Given the description of an element on the screen output the (x, y) to click on. 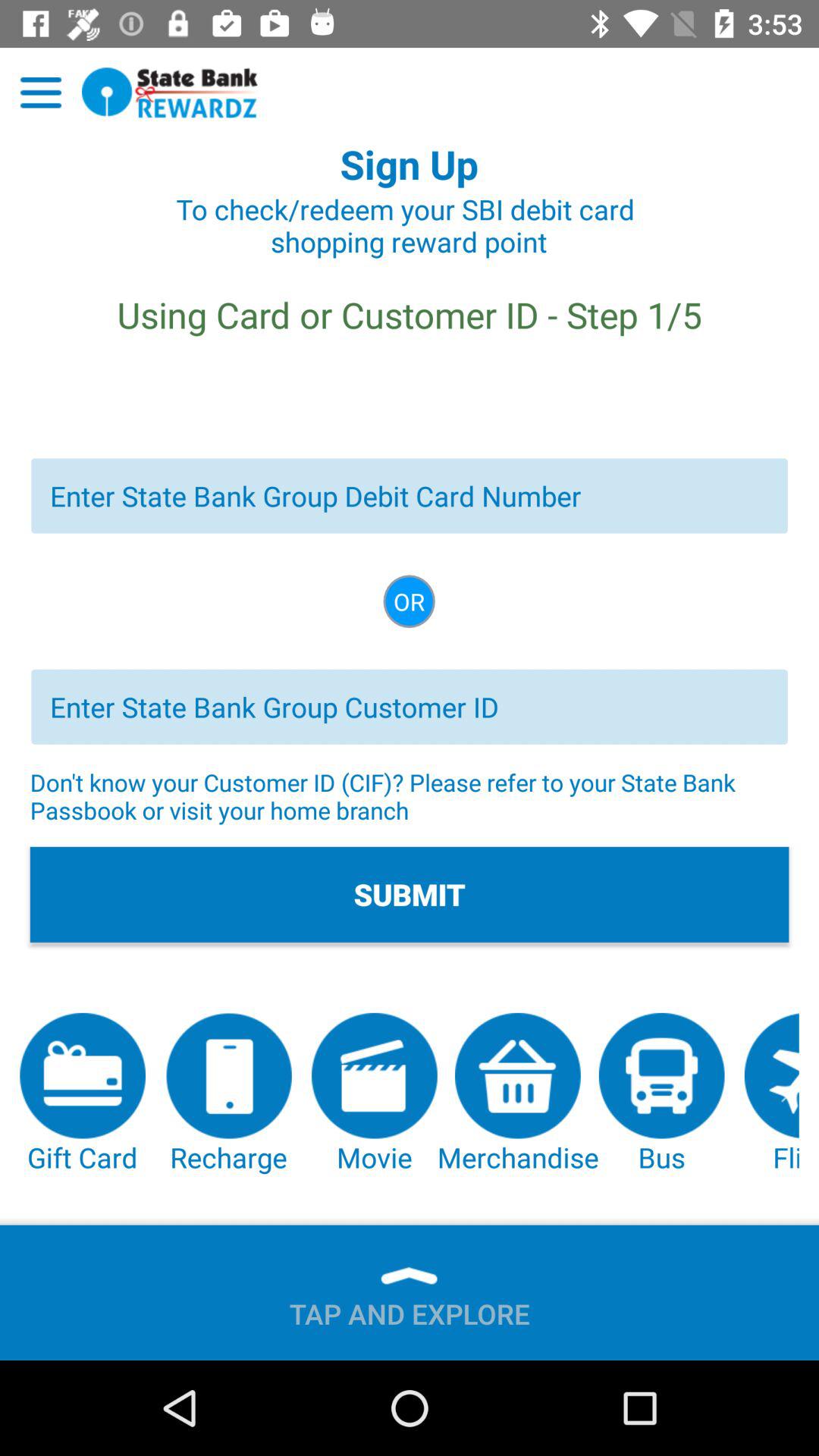
enter group customer id (409, 706)
